Given the description of an element on the screen output the (x, y) to click on. 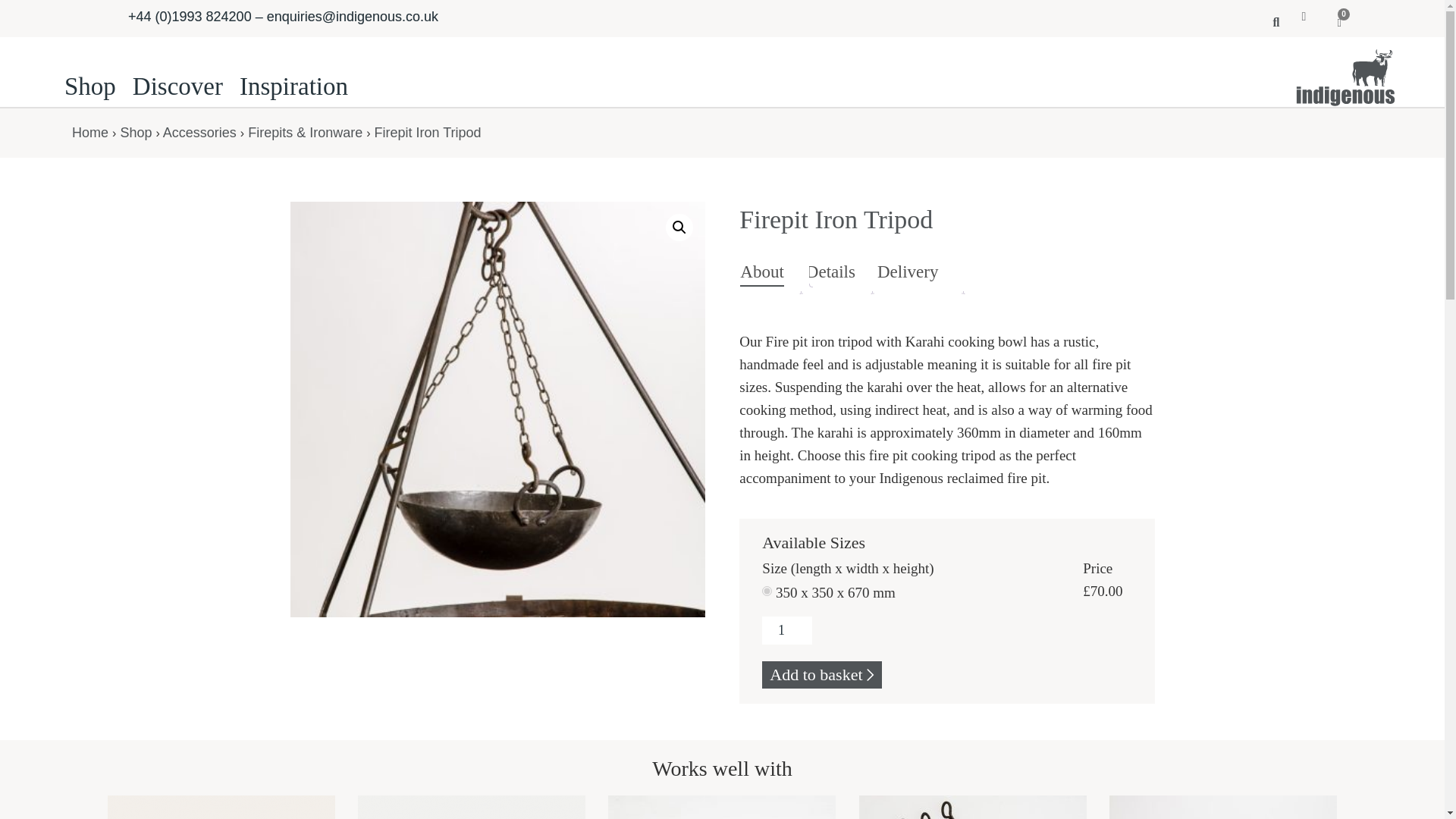
Accessories (199, 132)
1 (785, 630)
Shop (135, 132)
Search (1270, 22)
on (766, 591)
Home (89, 132)
